Given the description of an element on the screen output the (x, y) to click on. 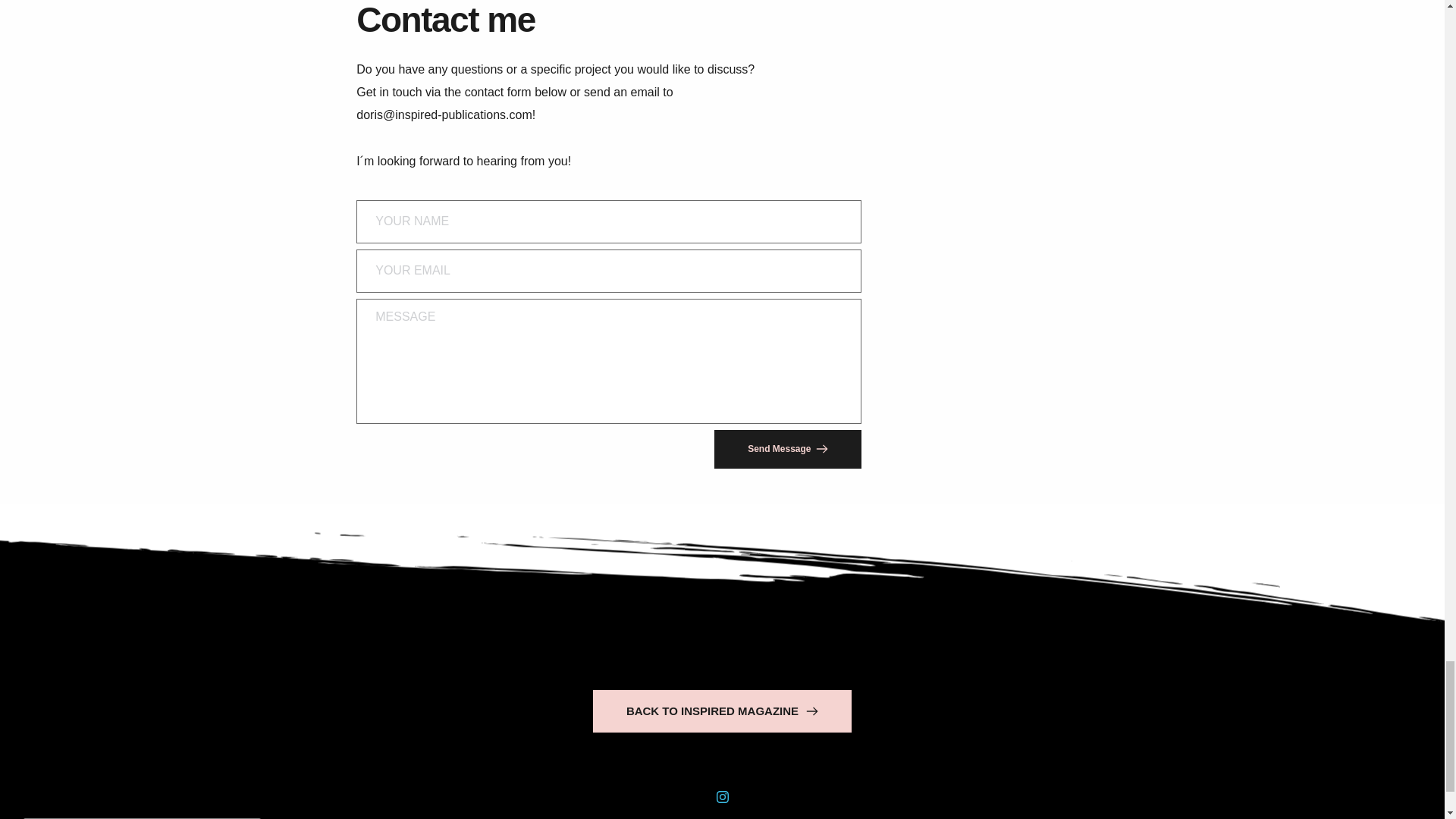
BACK TO INSPIRED MAGAZINE (721, 711)
Send Message (787, 448)
